Given the description of an element on the screen output the (x, y) to click on. 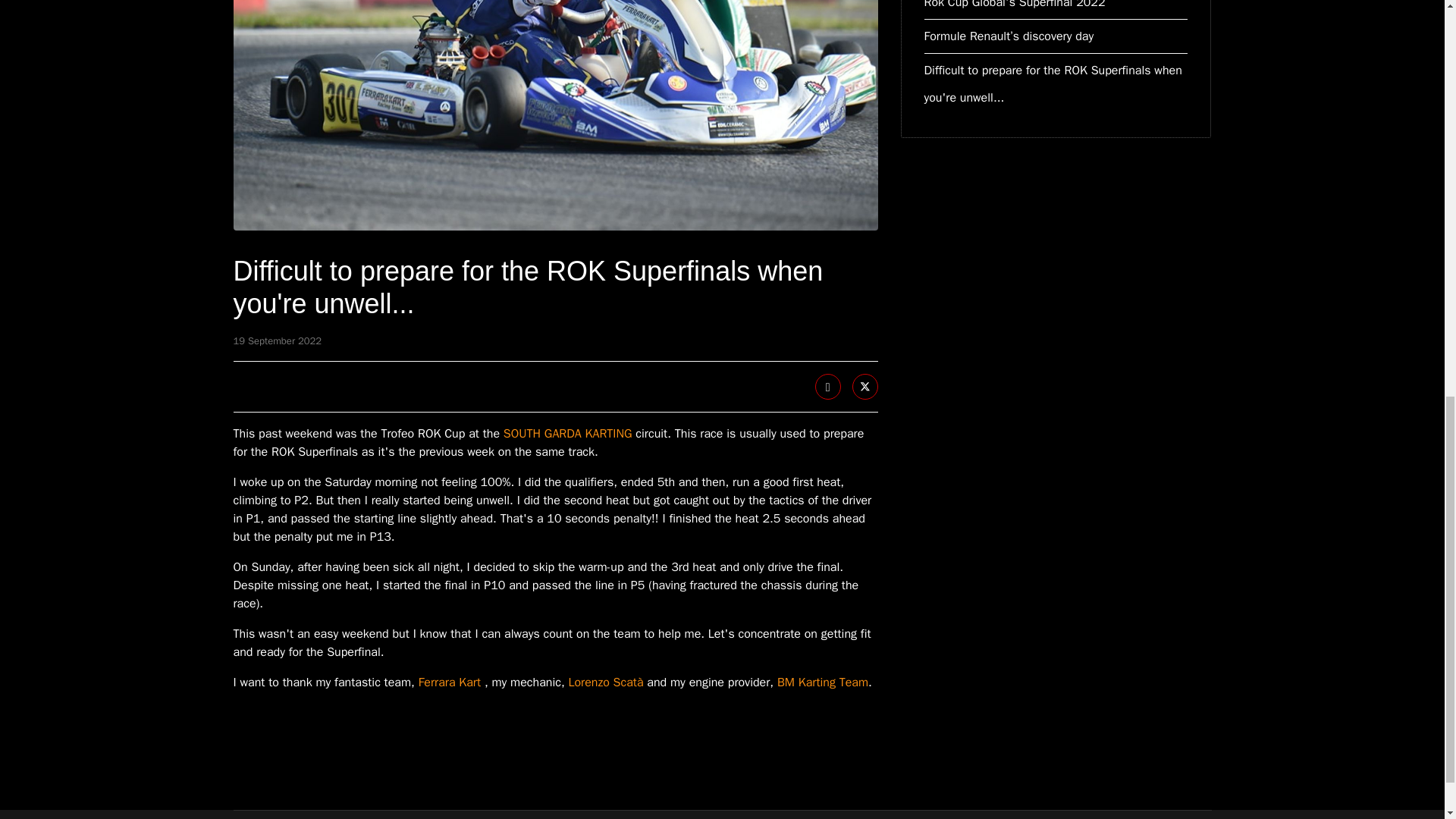
BM Karting Team (822, 682)
Ferrara Kart (449, 682)
SOUTH GARDA KARTING (567, 433)
